Given the description of an element on the screen output the (x, y) to click on. 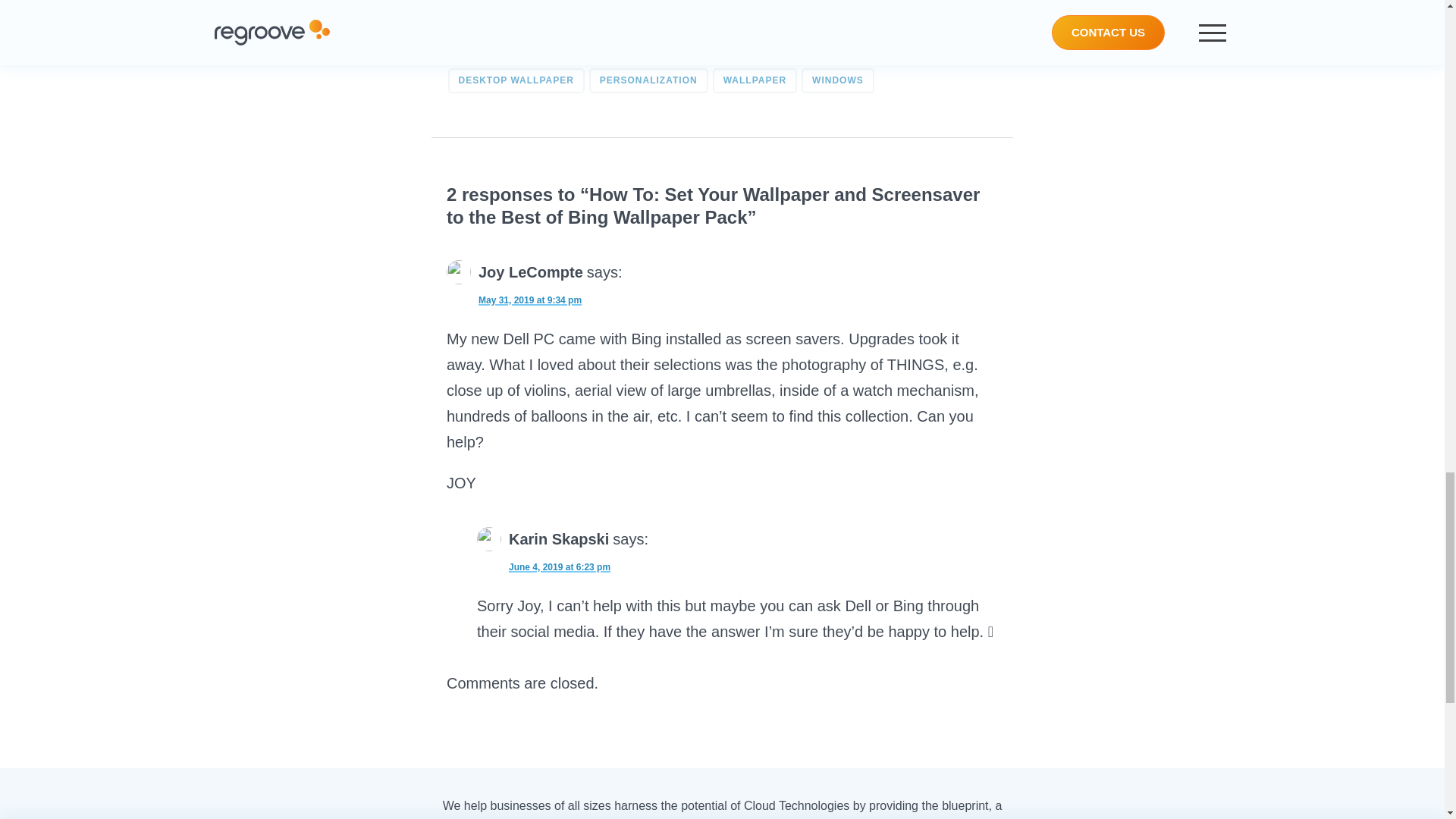
WINDOWS (838, 80)
CUSTOMIZATION (770, 50)
PERSONALIZATION (648, 80)
WALLPAPER (754, 80)
BEST OF BING (493, 50)
DESKTOP (863, 50)
BING (570, 50)
May 31, 2019 at 9:34 pm (513, 297)
June 4, 2019 at 6:23 pm (543, 564)
DESKTOP WALLPAPER (514, 80)
BING WALLPAPER (655, 50)
